Given the description of an element on the screen output the (x, y) to click on. 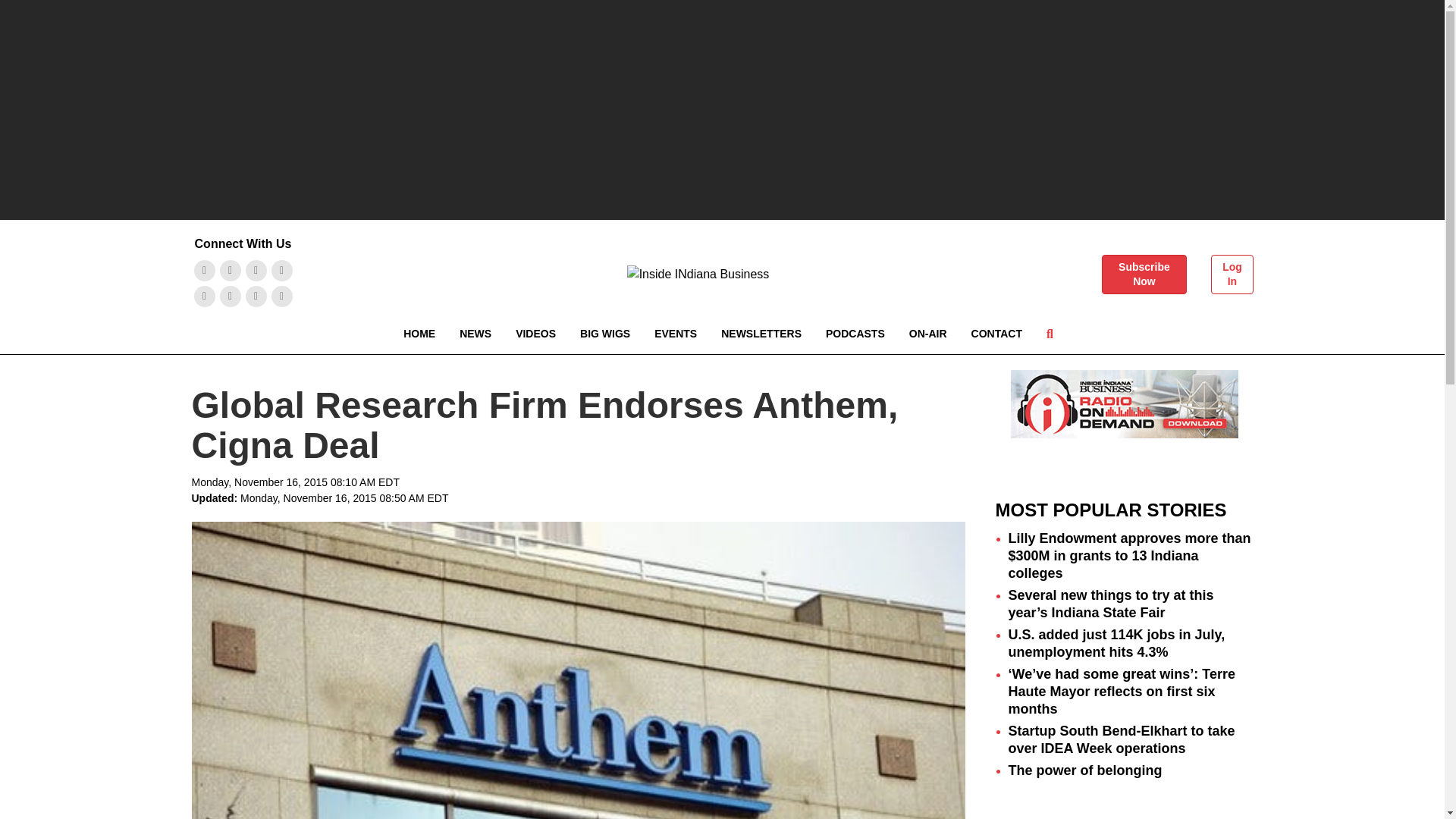
NEWS (474, 333)
NEWSLETTERS (761, 333)
EVENTS (675, 333)
Log In (1231, 274)
PODCASTS (854, 333)
Subscribe Now (1143, 274)
HOME (418, 333)
ON-AIR (927, 333)
CONTACT (996, 333)
BIG WIGS (604, 333)
